Given the description of an element on the screen output the (x, y) to click on. 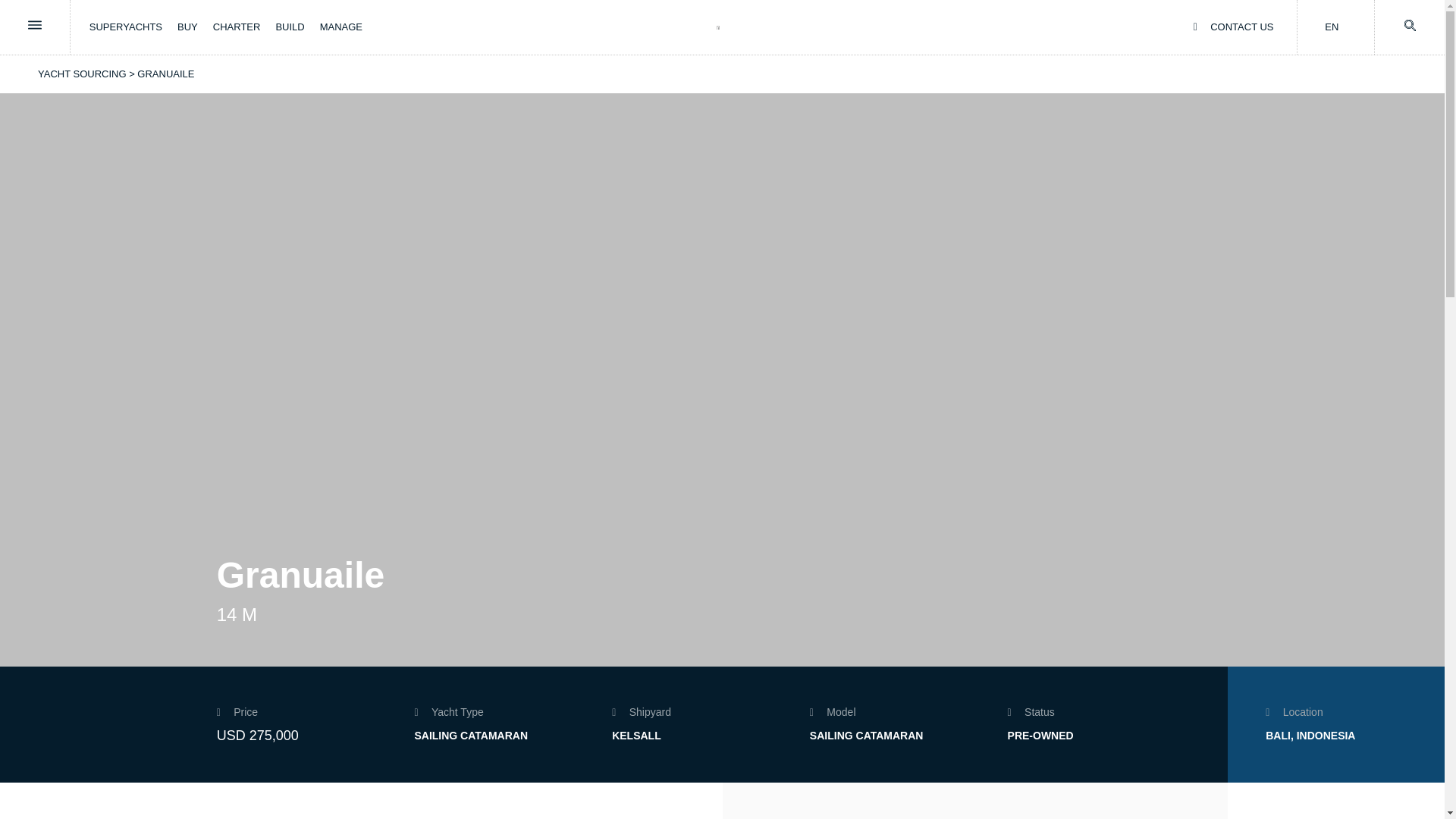
EN (1331, 27)
CONTACT US (1233, 27)
YACHT SOURCING (81, 73)
SUPERYACHTS (124, 27)
EN (1331, 27)
